Given the description of an element on the screen output the (x, y) to click on. 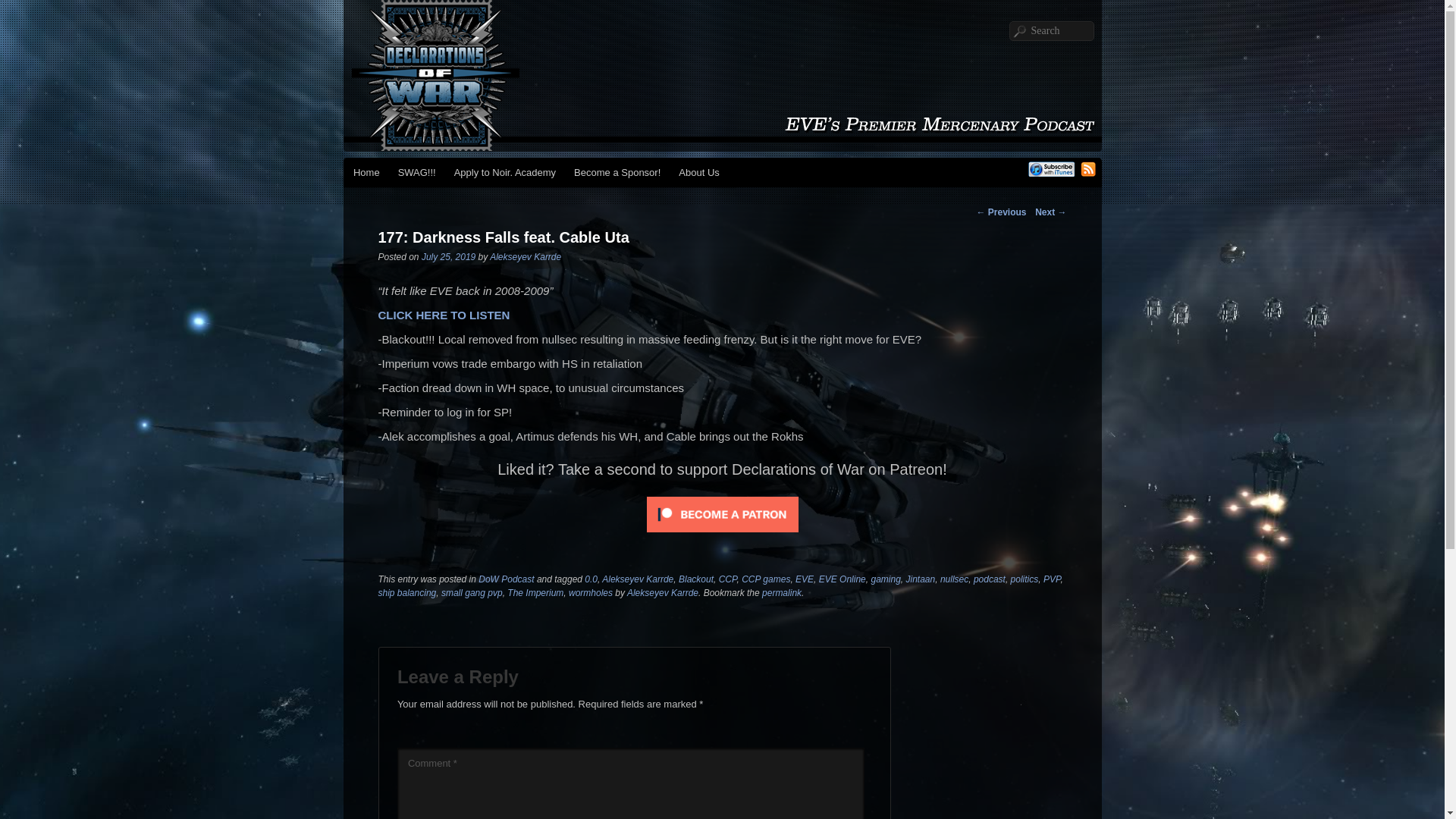
Jintaan (919, 579)
Alekseyev Karrde (524, 256)
wormholes (590, 593)
Blackout (695, 579)
Become a Sponsor! (616, 172)
Home (365, 172)
EVE (803, 579)
Skip to primary content (419, 174)
small gang pvp (471, 593)
About Us (698, 172)
